Given the description of an element on the screen output the (x, y) to click on. 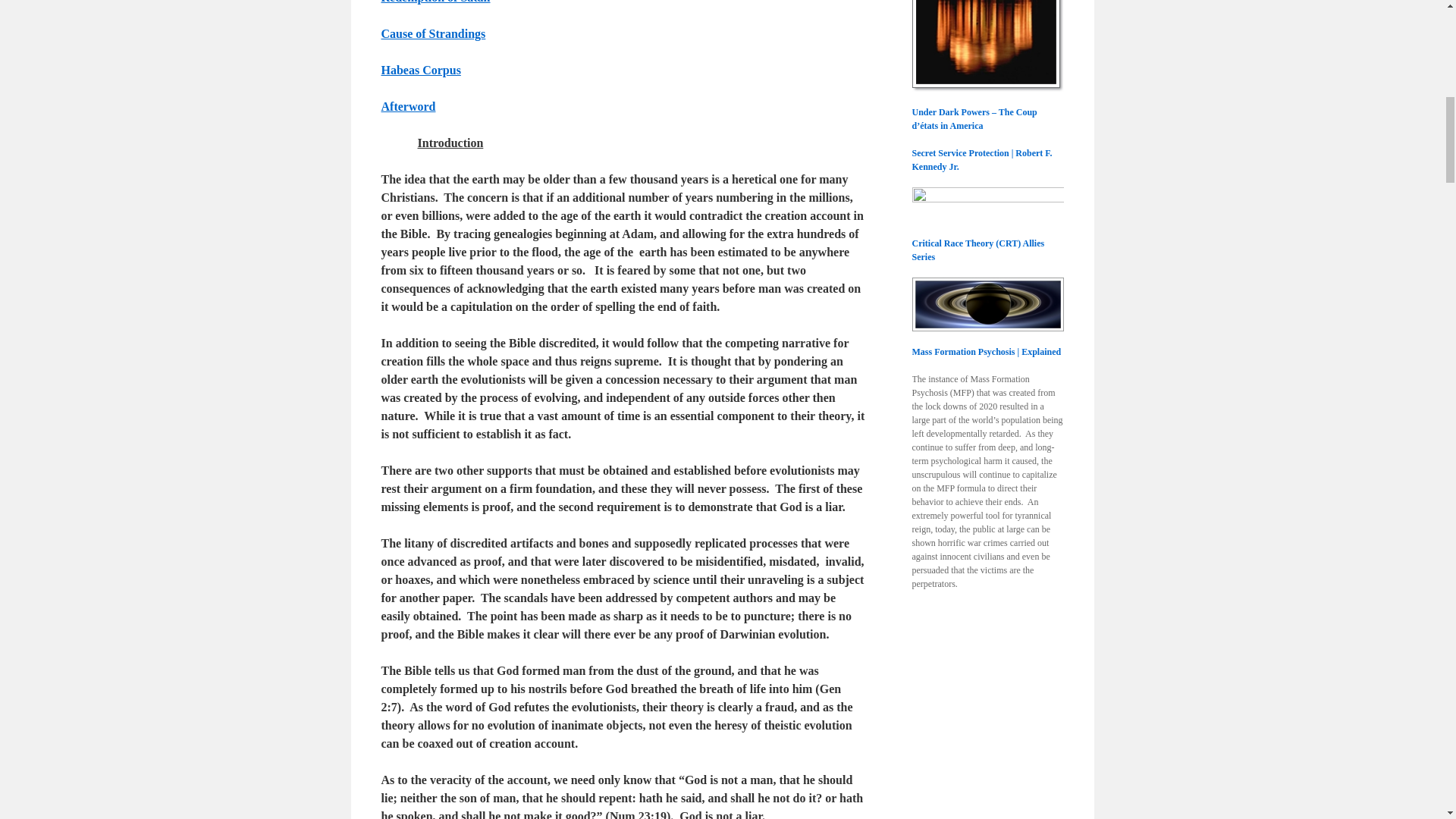
Redemption of Satan (434, 2)
Habeas Corpus (420, 69)
Afterword (407, 106)
Cause of Strandings (432, 33)
